Given the description of an element on the screen output the (x, y) to click on. 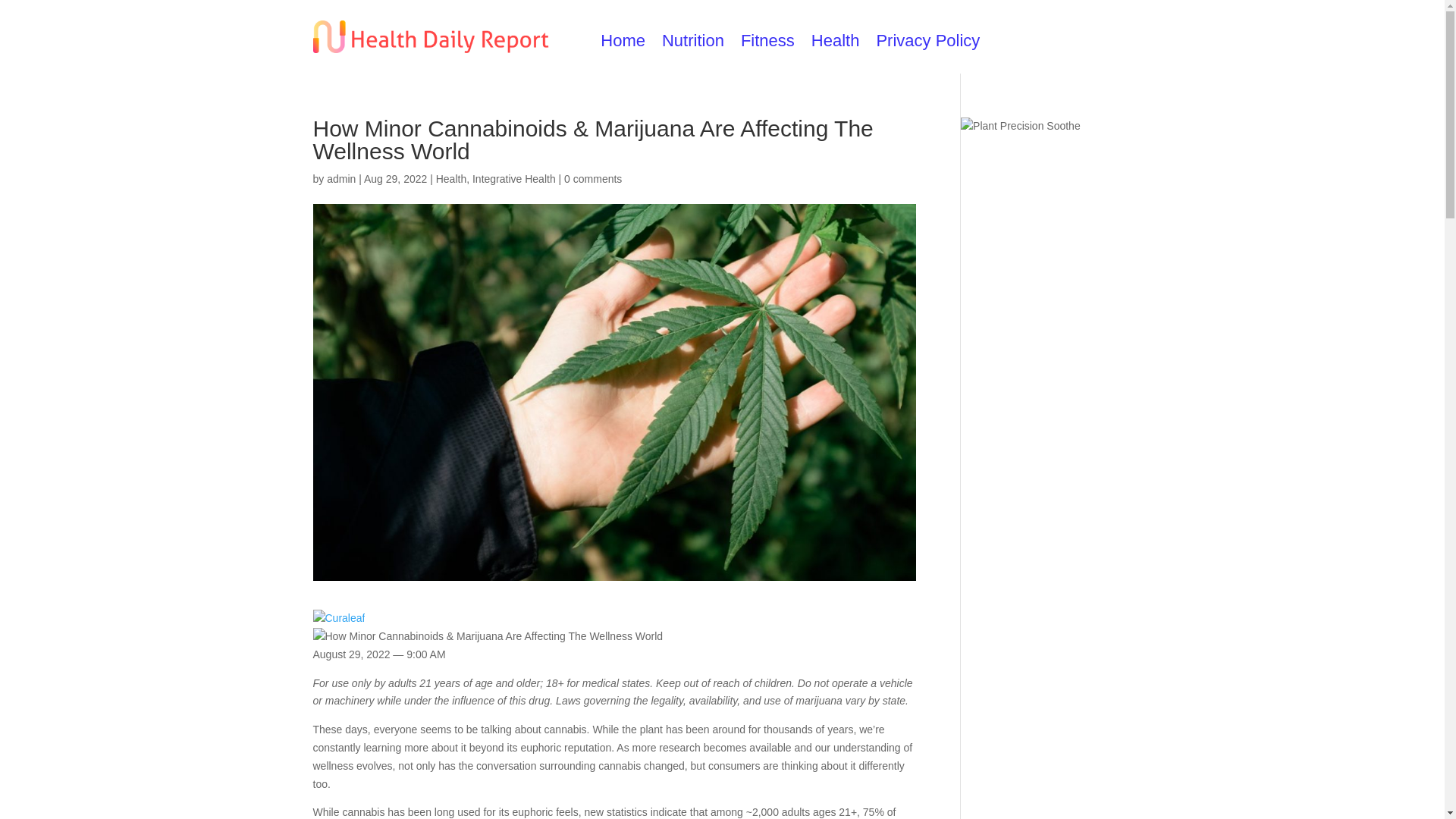
Health (450, 178)
Health (835, 44)
Plant Precision Soothe (1020, 126)
admin (340, 178)
Privacy Policy (927, 44)
Curaleaf (339, 618)
Fitness (767, 44)
Nutrition (692, 44)
Posts by admin (340, 178)
0 comments (592, 178)
Integrative Health (513, 178)
Home (622, 44)
